Given the description of an element on the screen output the (x, y) to click on. 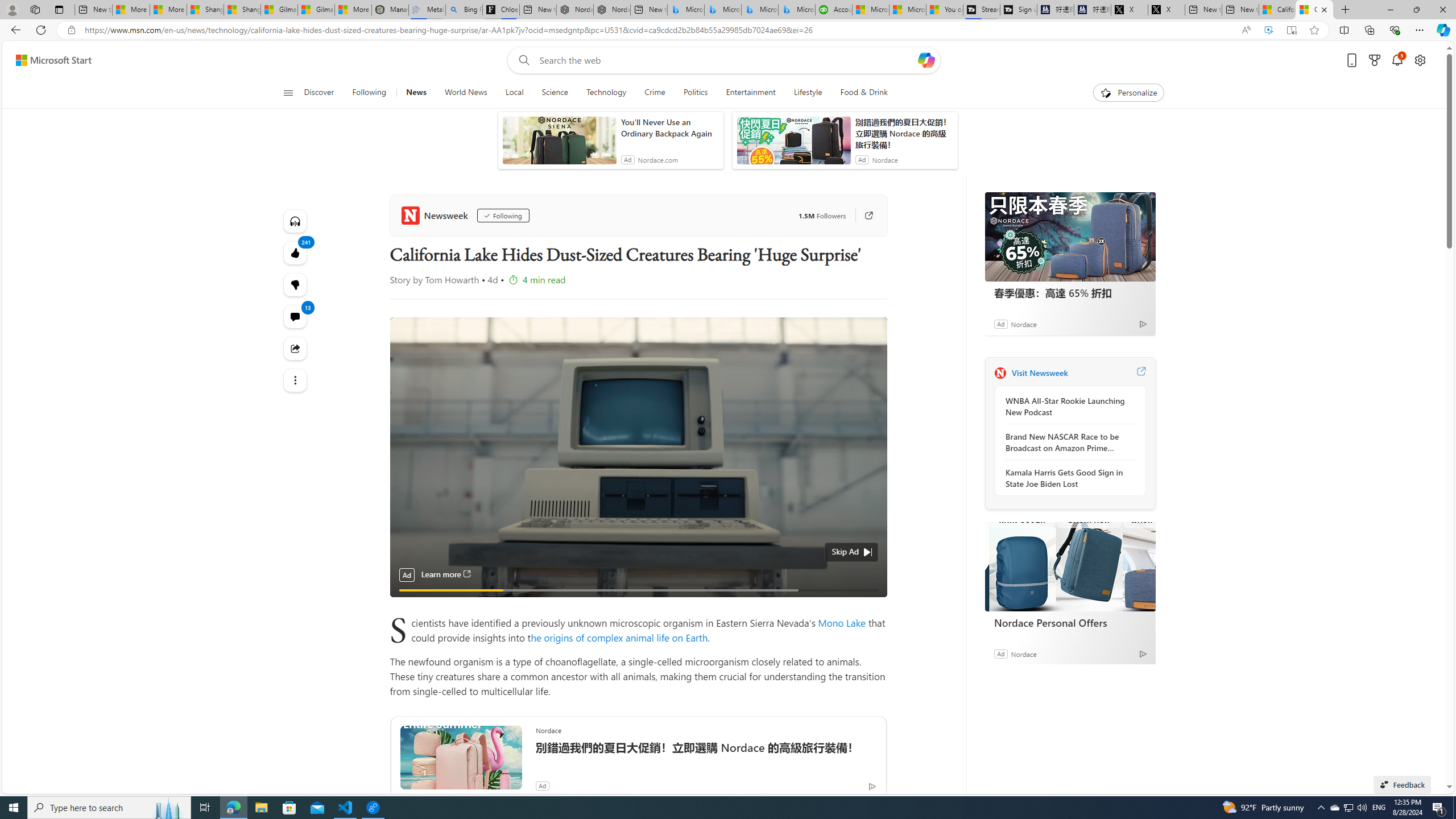
Go to publisher's site (863, 215)
